Given the description of an element on the screen output the (x, y) to click on. 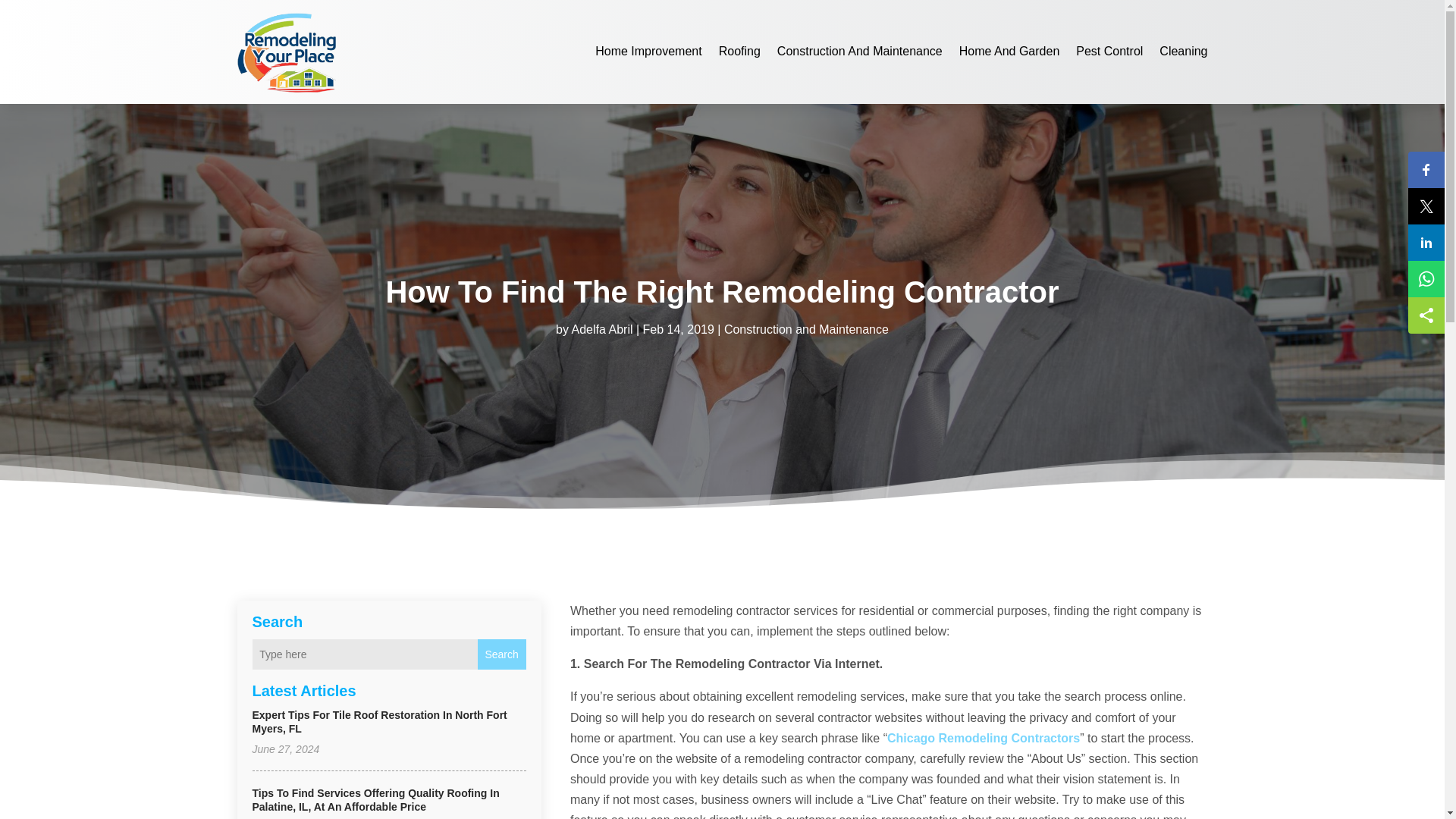
Cleaning (1182, 51)
Search (501, 654)
Home And Garden (1009, 51)
Construction And Maintenance (859, 51)
Posts by Adelfa Abril (602, 328)
Adelfa Abril (602, 328)
Home Improvement (648, 51)
Construction and Maintenance (805, 328)
Pest Control (1108, 51)
Roofing (739, 51)
